Given the description of an element on the screen output the (x, y) to click on. 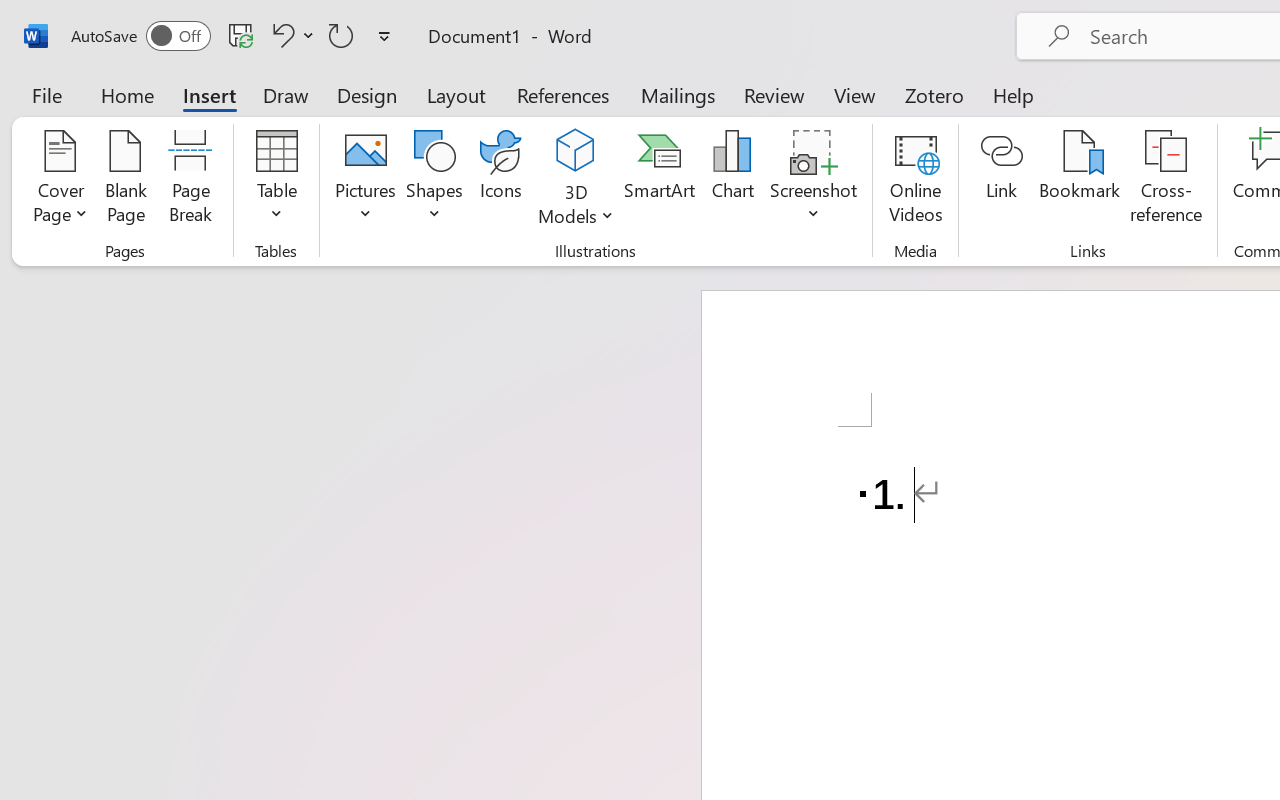
Repeat Doc Close (341, 35)
Pictures (365, 179)
3D Models (576, 179)
Chart... (732, 179)
Cross-reference... (1165, 179)
3D Models (576, 151)
Page Break (190, 179)
